Given the description of an element on the screen output the (x, y) to click on. 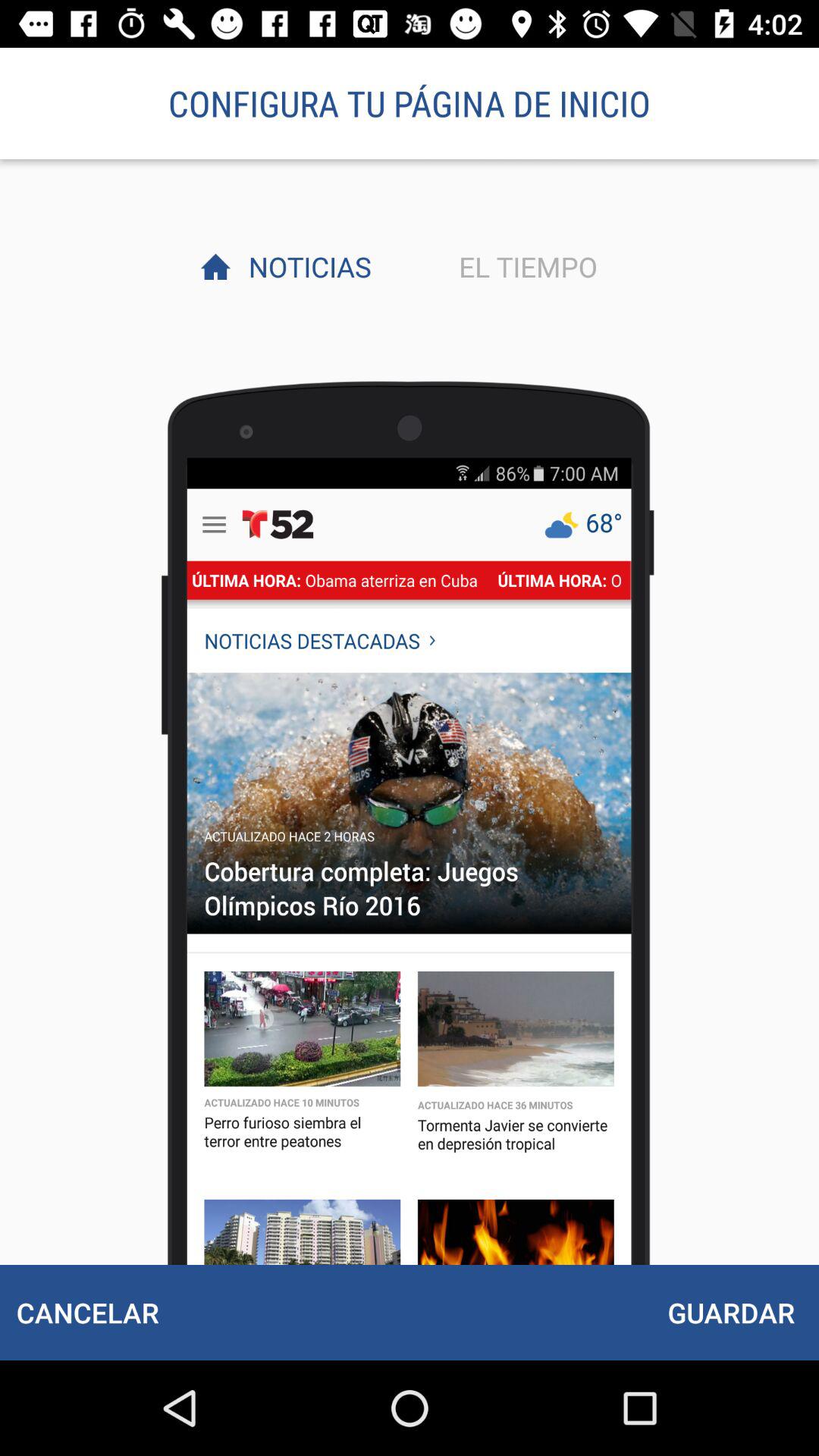
flip until noticias (305, 266)
